Given the description of an element on the screen output the (x, y) to click on. 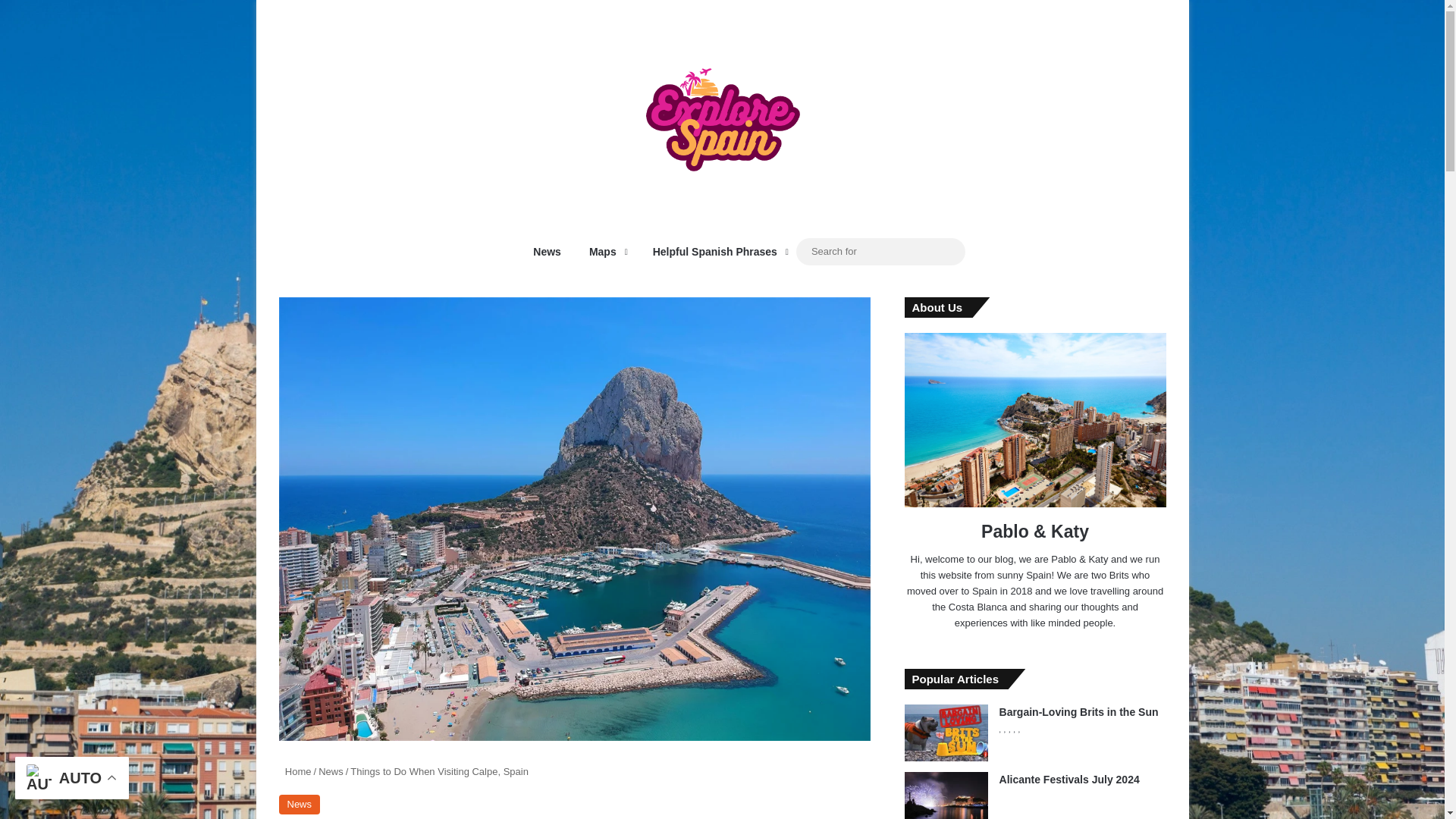
News (543, 251)
Search for (949, 251)
Maps (603, 251)
Explore Spain (721, 114)
News (299, 804)
Search for (880, 251)
News (330, 771)
Home (295, 771)
Helpful Spanish Phrases (715, 251)
